Given the description of an element on the screen output the (x, y) to click on. 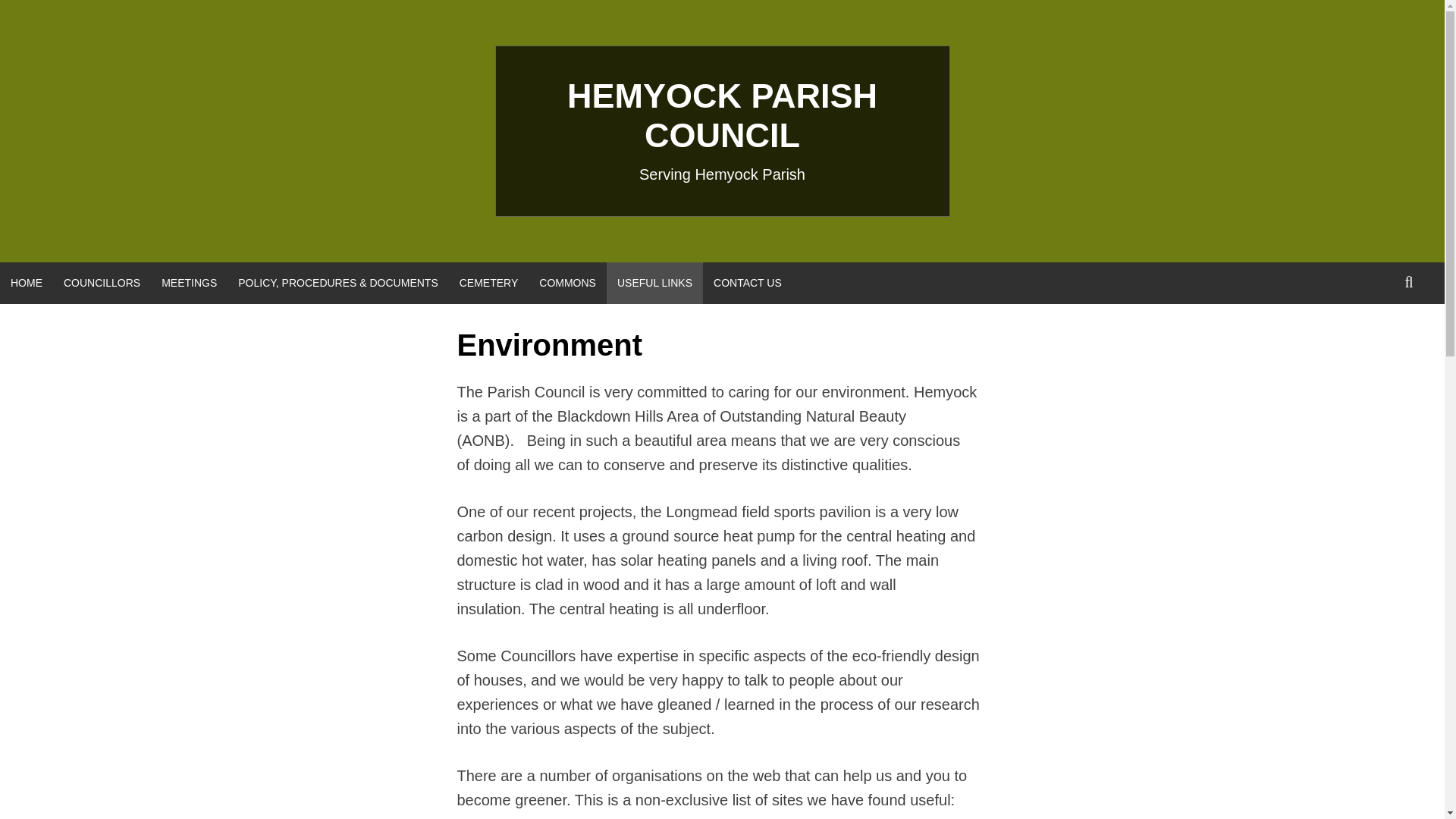
USEFUL LINKS (655, 282)
CONTACT US (747, 282)
COMMONS (567, 282)
HOME (26, 282)
CEMETERY (488, 282)
COUNCILLORS (101, 282)
SEARCH (1409, 282)
HEMYOCK PARISH COUNCIL (722, 115)
MEETINGS (189, 282)
